Given the description of an element on the screen output the (x, y) to click on. 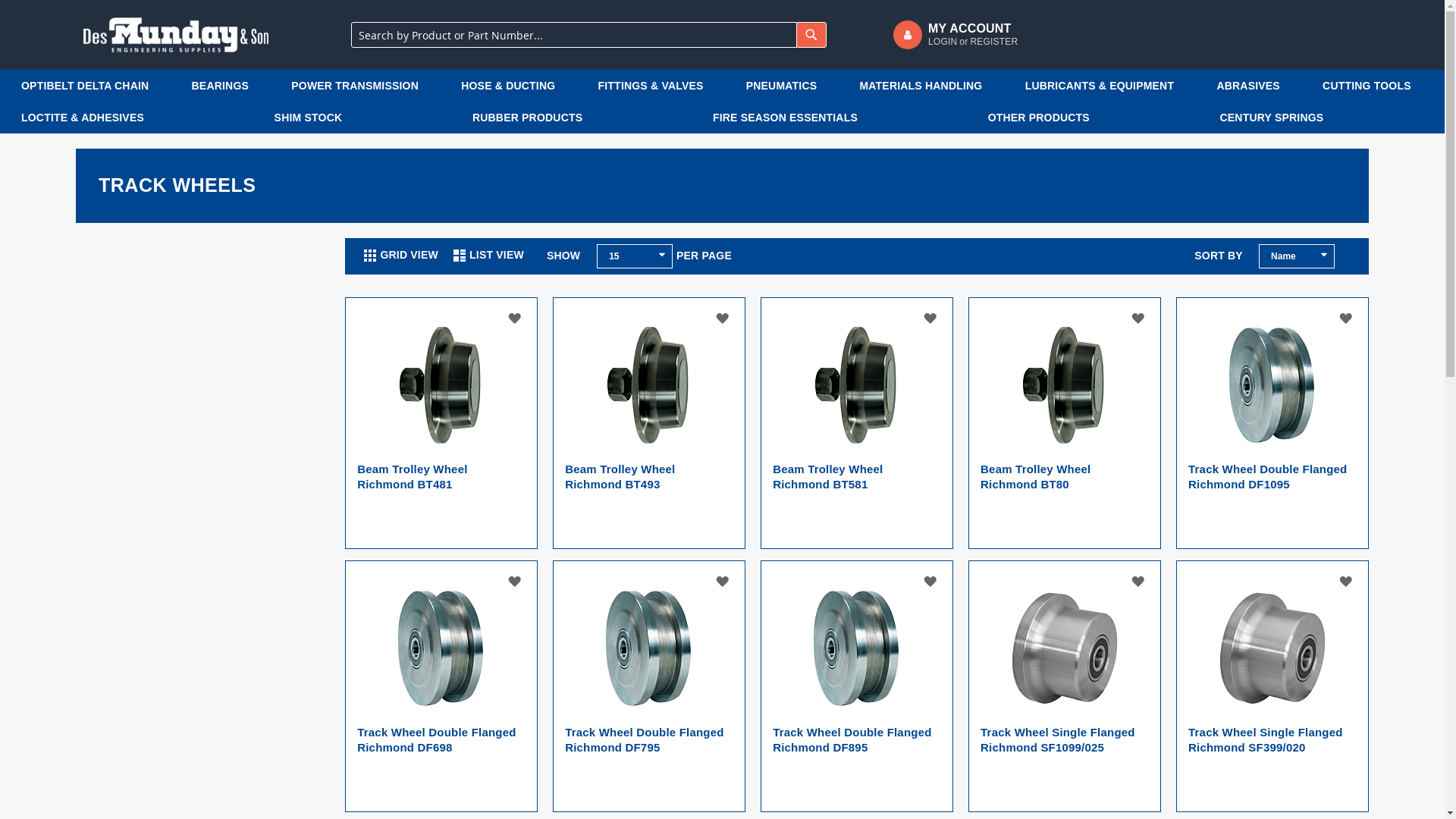
MATERIALS HANDLING Element type: text (926, 85)
FITTINGS & VALVES Element type: text (657, 85)
Beam Trolley Wheel Richmond BT581 Element type: text (827, 476)
POWER TRANSMISSION Element type: text (360, 85)
Track Wheel Double Flanged Richmond DF895 Element type: text (851, 739)
Search Element type: text (811, 34)
SHIM STOCK Element type: text (358, 117)
OPTIBELT DELTA CHAIN Element type: text (91, 85)
REGISTER Element type: text (993, 41)
Beam Trolley Wheel Richmond BT80 Element type: text (1035, 476)
Add to Wish List Element type: hover (1139, 581)
Track Wheel Double Flanged Richmond DF698 Element type: text (436, 739)
Beam Trolley Wheel Richmond BT493 Element type: text (619, 476)
Track Wheel Single Flanged Richmond SF399/020 Element type: text (1265, 739)
MY ACCOUNT Element type: text (972, 28)
LUBRICANTS & EQUIPMENT Element type: text (1105, 85)
Track Wheel Single Flanged Richmond SF1099/025 Element type: text (1057, 739)
Add to Wish List Element type: hover (931, 581)
OTHER PRODUCTS Element type: text (1088, 117)
CENTURY SPRINGS Element type: text (1321, 117)
Track Wheel Double Flanged Richmond DF1095 Element type: text (1267, 476)
Add to Wish List Element type: hover (931, 318)
FIRE SEASON ESSENTIALS Element type: text (834, 117)
PNEUMATICS Element type: text (787, 85)
Des Munday & Son Element type: hover (175, 34)
LOGIN Element type: text (942, 41)
HOSE & DUCTING Element type: text (513, 85)
Des Munday & Son Element type: hover (175, 34)
BEARINGS Element type: text (226, 85)
Add to Wish List Element type: hover (723, 318)
Track Wheel Double Flanged Richmond DF795 Element type: text (643, 739)
ABRASIVES Element type: text (1254, 85)
LIST VIEW Element type: text (488, 255)
Add to Wish List Element type: hover (1139, 318)
CUTTING TOOLS Element type: text (1372, 85)
LOCTITE & ADHESIVES Element type: text (132, 117)
RUBBER PRODUCTS Element type: text (577, 117)
Add to Wish List Element type: hover (723, 581)
Add to Wish List Element type: hover (1346, 318)
Add to Wish List Element type: hover (515, 581)
Add to Wish List Element type: hover (515, 318)
Add to Wish List Element type: hover (1346, 581)
Beam Trolley Wheel Richmond BT481 Element type: text (412, 476)
